Given the description of an element on the screen output the (x, y) to click on. 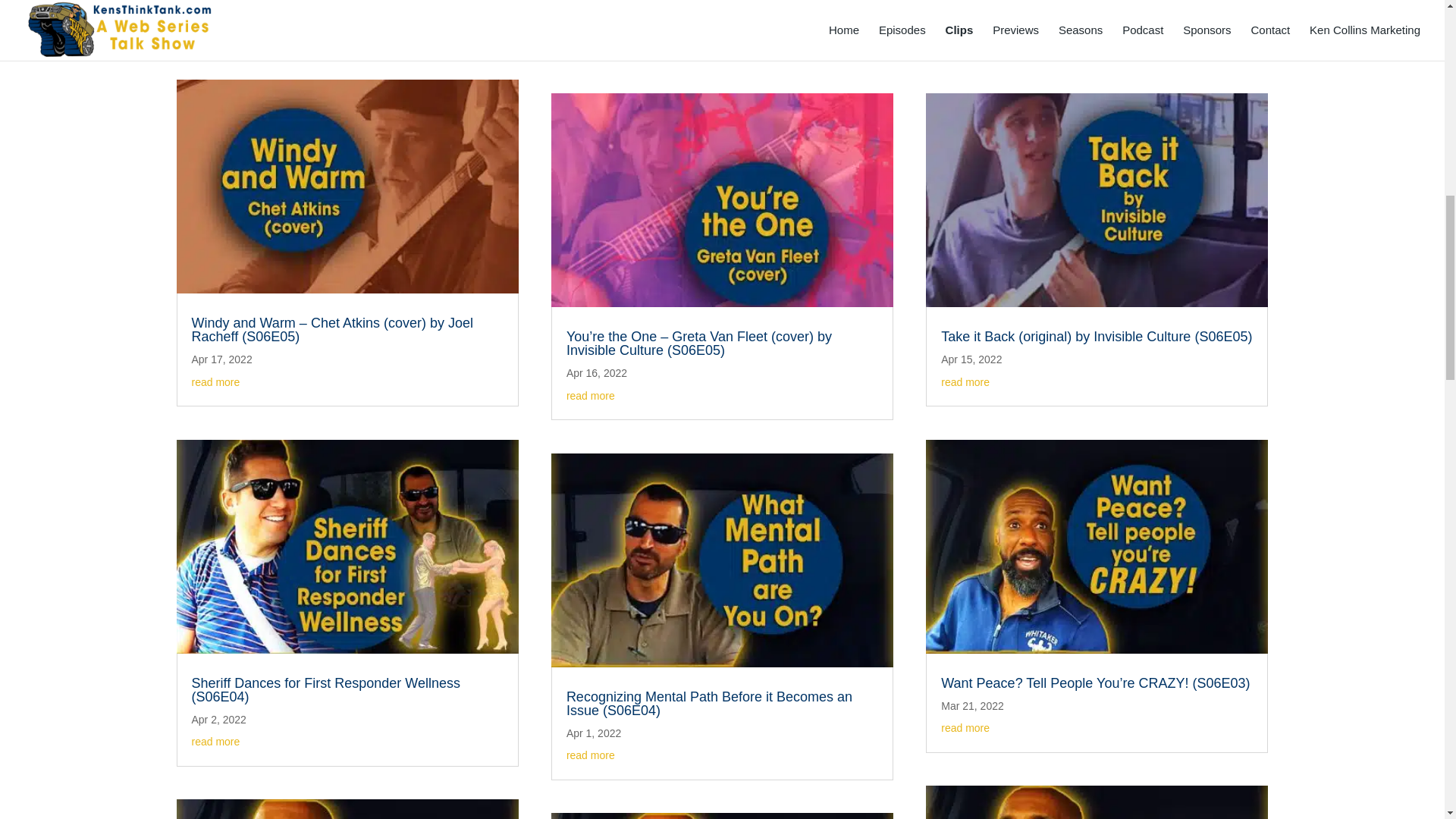
read more (215, 741)
read more (215, 381)
read more (215, 21)
